Given the description of an element on the screen output the (x, y) to click on. 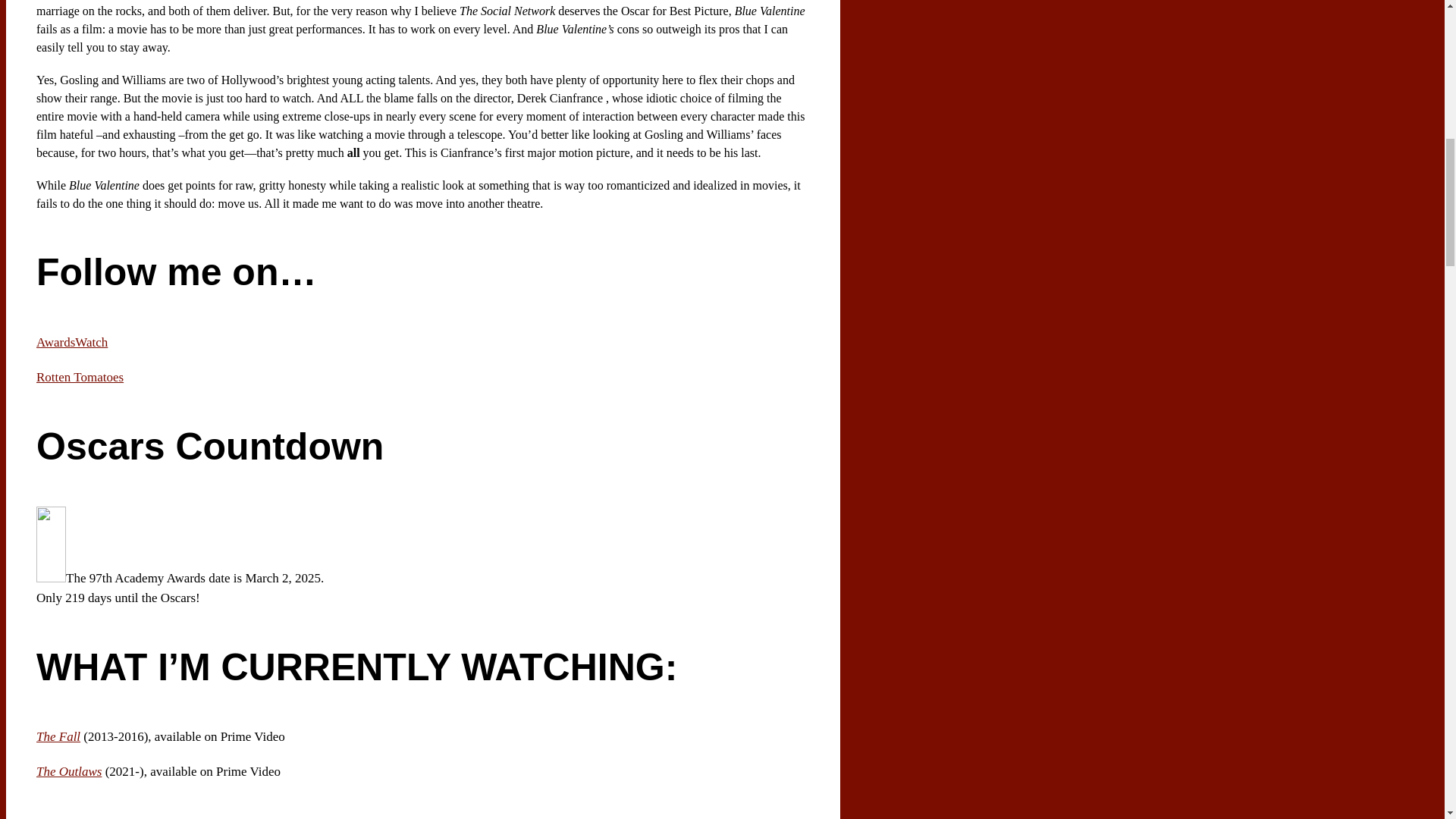
The Fall (58, 736)
Rotten Tomatoes (79, 377)
The Outlaws (68, 771)
AwardsWatch (71, 341)
